Given the description of an element on the screen output the (x, y) to click on. 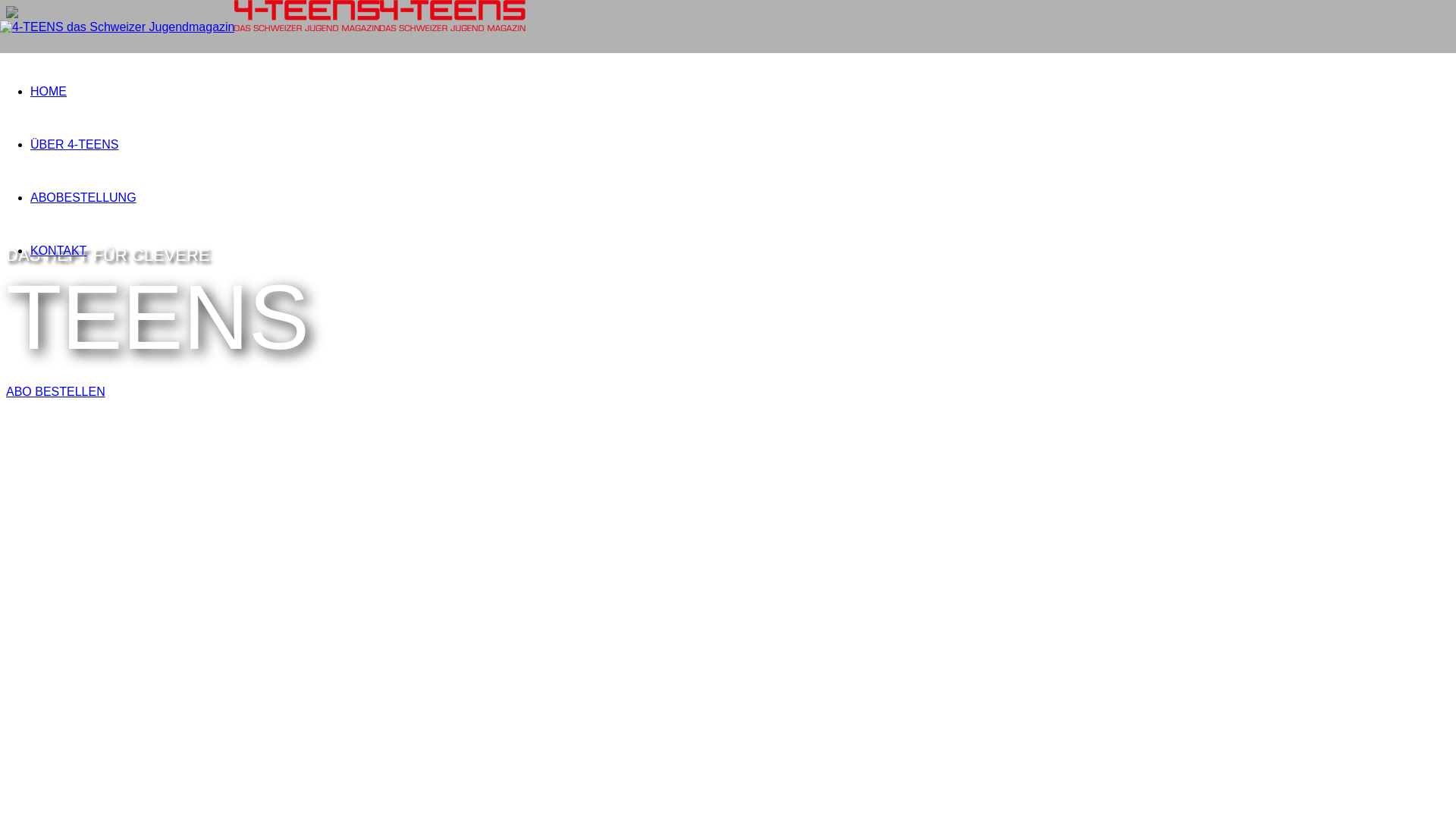
ABO BESTELLEN Element type: text (55, 391)
ABOBESTELLUNG Element type: text (83, 197)
HOME Element type: text (48, 90)
KONTAKT Element type: text (58, 250)
